Given the description of an element on the screen output the (x, y) to click on. 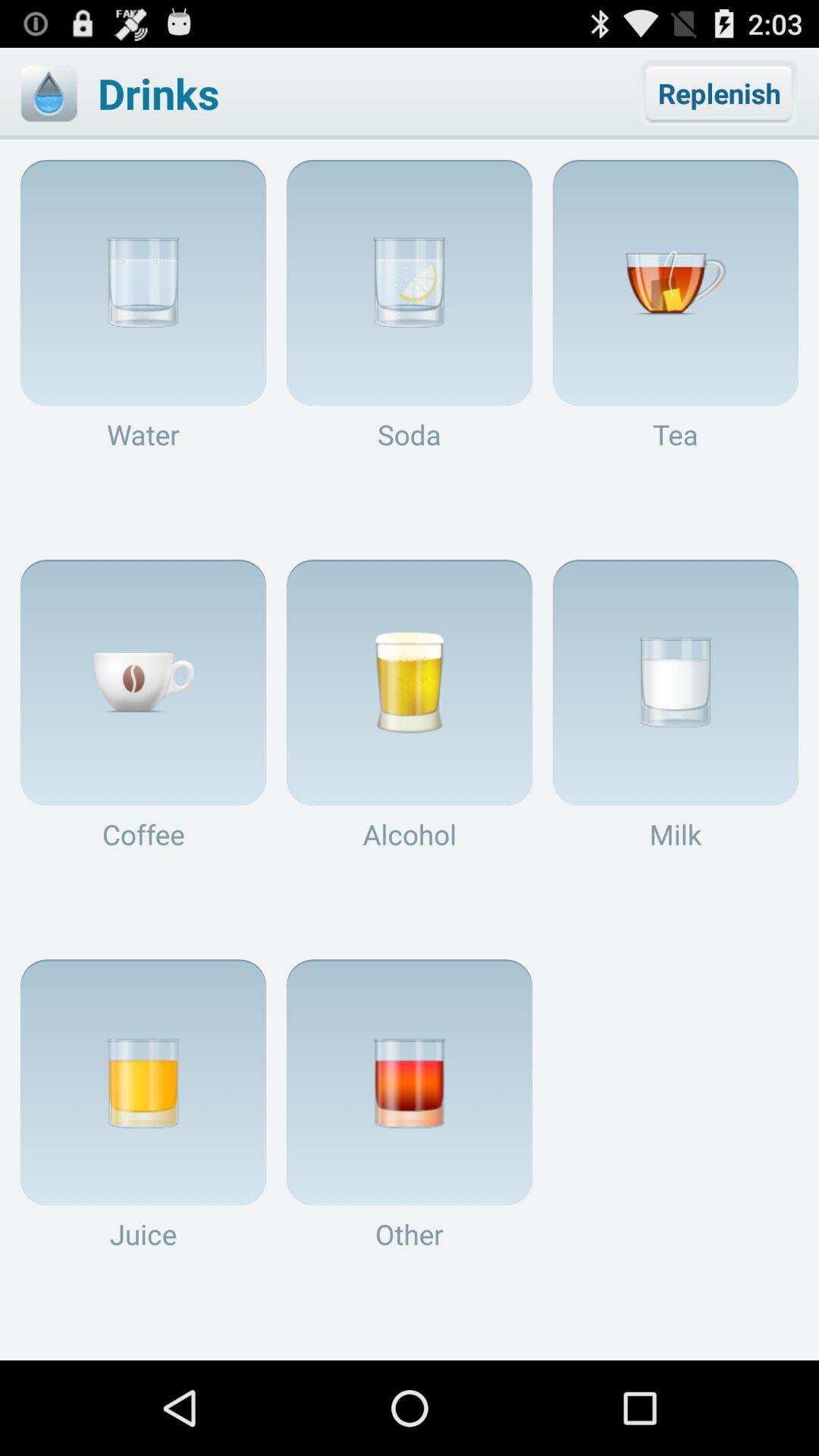
go to home (48, 93)
